Given the description of an element on the screen output the (x, y) to click on. 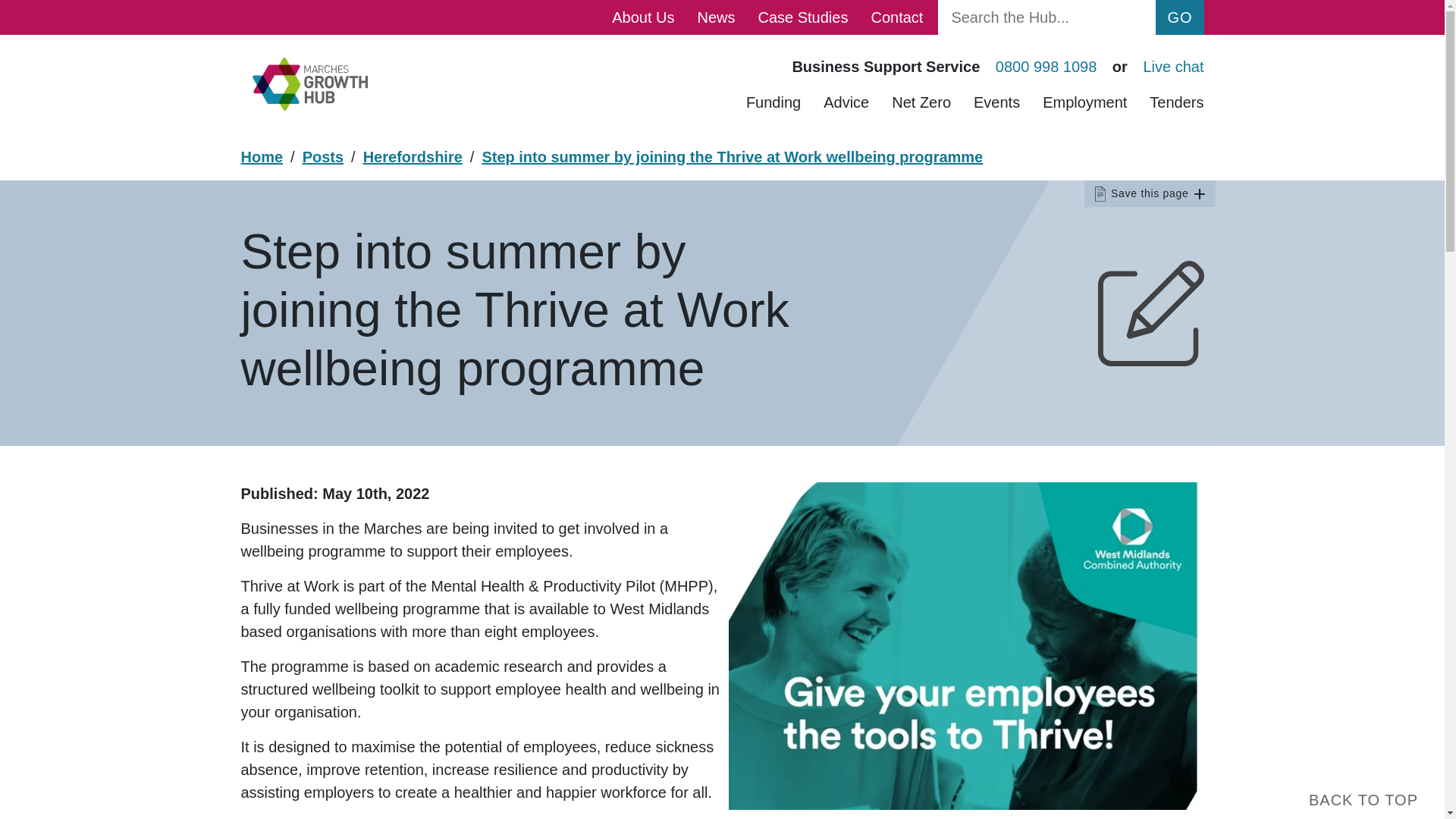
plus (1198, 194)
About Us (642, 17)
Marches Growth Hub (309, 83)
News (715, 17)
